Given the description of an element on the screen output the (x, y) to click on. 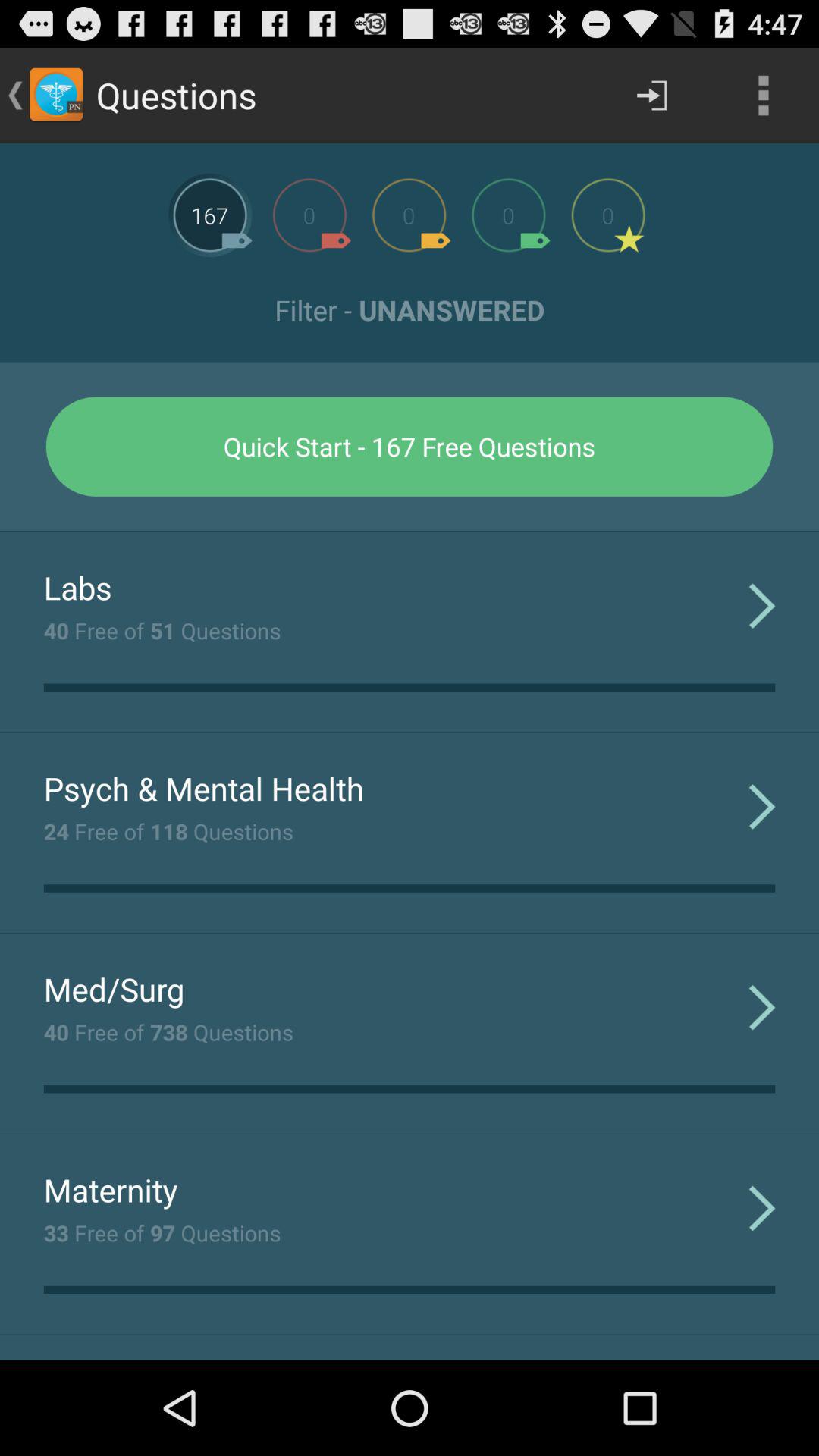
jump until psych & mental health (203, 787)
